Given the description of an element on the screen output the (x, y) to click on. 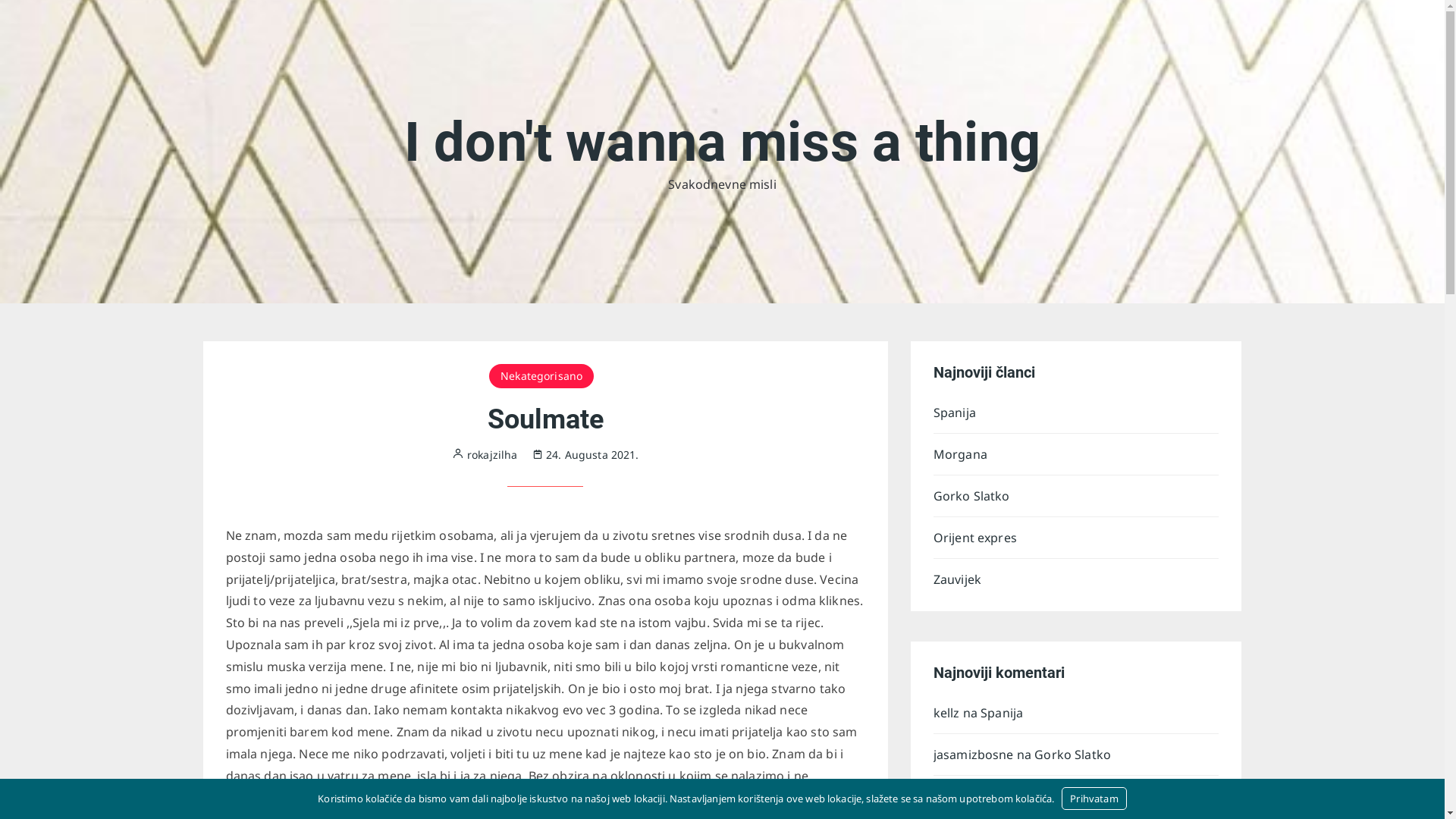
kellz Element type: text (946, 712)
Prihvatam Element type: text (1093, 798)
Nekategorisano Element type: text (541, 376)
LauraTesla Element type: text (964, 795)
24. Augusta 2021. Element type: text (585, 454)
I don't wanna miss a thing Element type: text (722, 141)
Gorko Slatko Element type: text (1072, 754)
Orijent expres Element type: text (1058, 795)
Spanija Element type: text (1001, 712)
Morgana Element type: text (1076, 454)
Zauvijek Element type: text (1076, 579)
Spanija Element type: text (1076, 412)
rokajzilha Element type: text (484, 453)
Gorko Slatko Element type: text (1076, 495)
Orijent expres Element type: text (1076, 537)
